Given the description of an element on the screen output the (x, y) to click on. 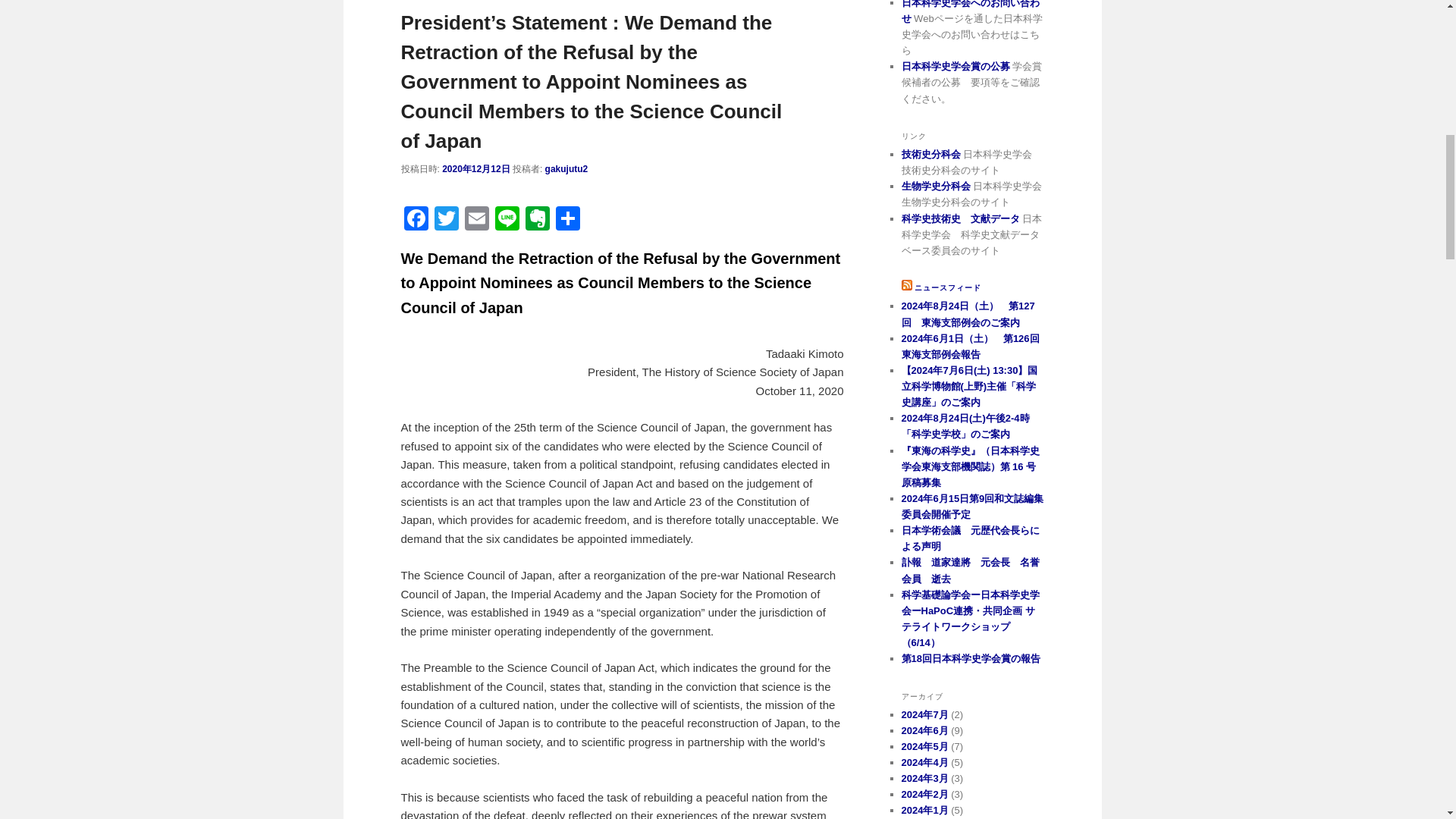
2:57 PM (475, 168)
Line (506, 220)
Twitter (445, 220)
Email (476, 220)
Facebook (415, 220)
Evernote (536, 220)
